Given the description of an element on the screen output the (x, y) to click on. 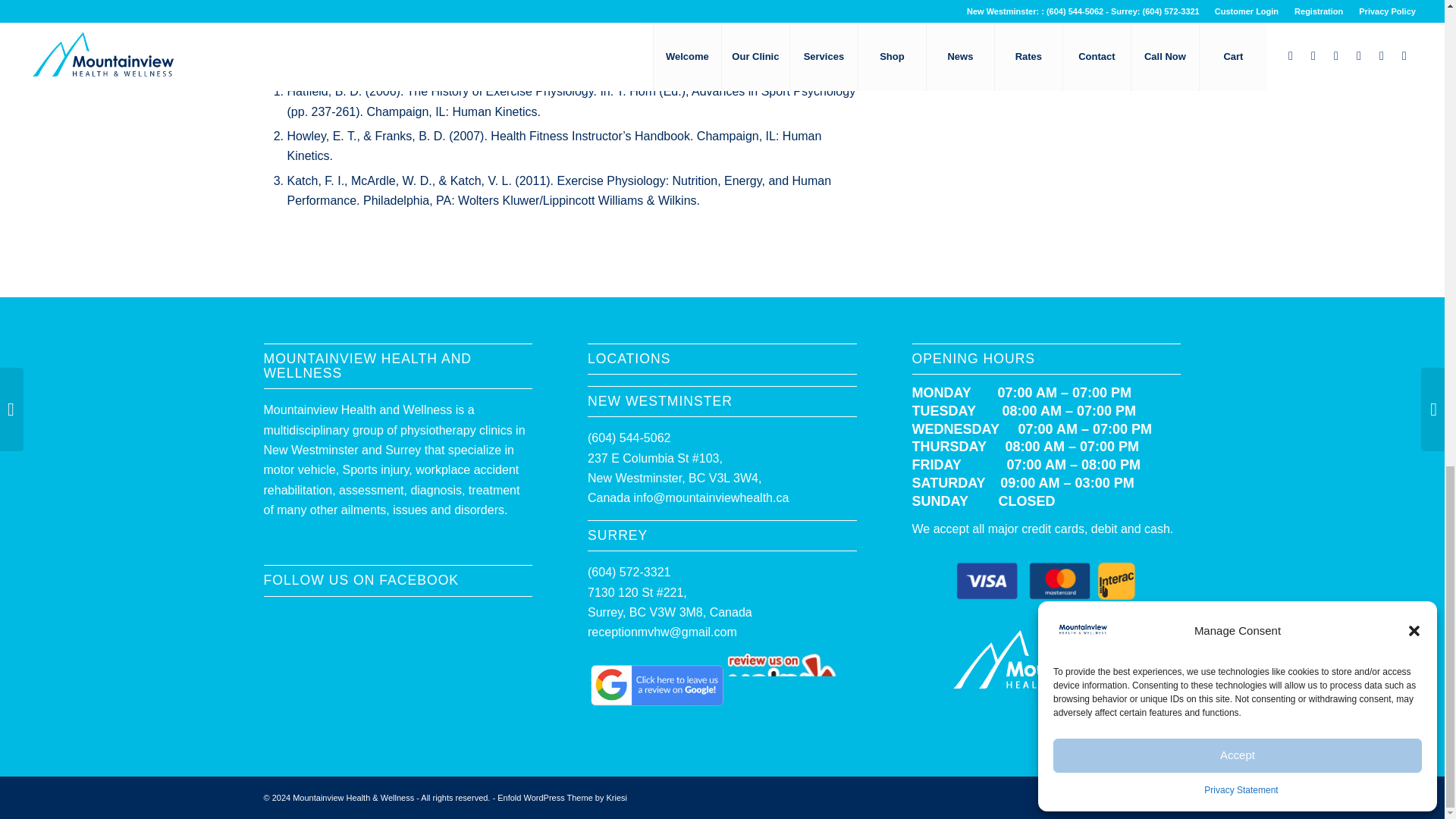
Instagram (1078, 794)
Facebook (1056, 794)
Mail (1169, 794)
WhatsApp (1146, 794)
LinkedIn (1101, 794)
Youtube (1124, 794)
